Given the description of an element on the screen output the (x, y) to click on. 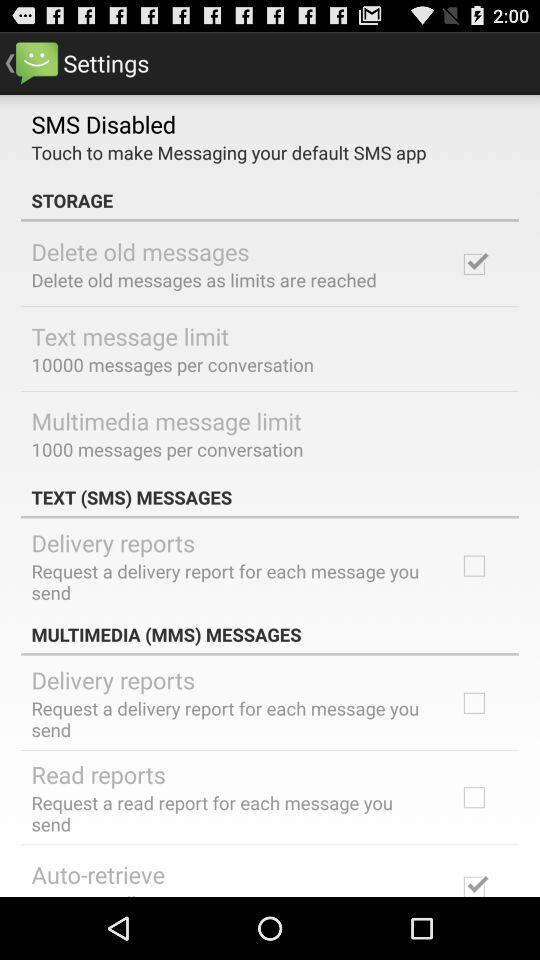
swipe until multimedia (mms) messages app (270, 634)
